Given the description of an element on the screen output the (x, y) to click on. 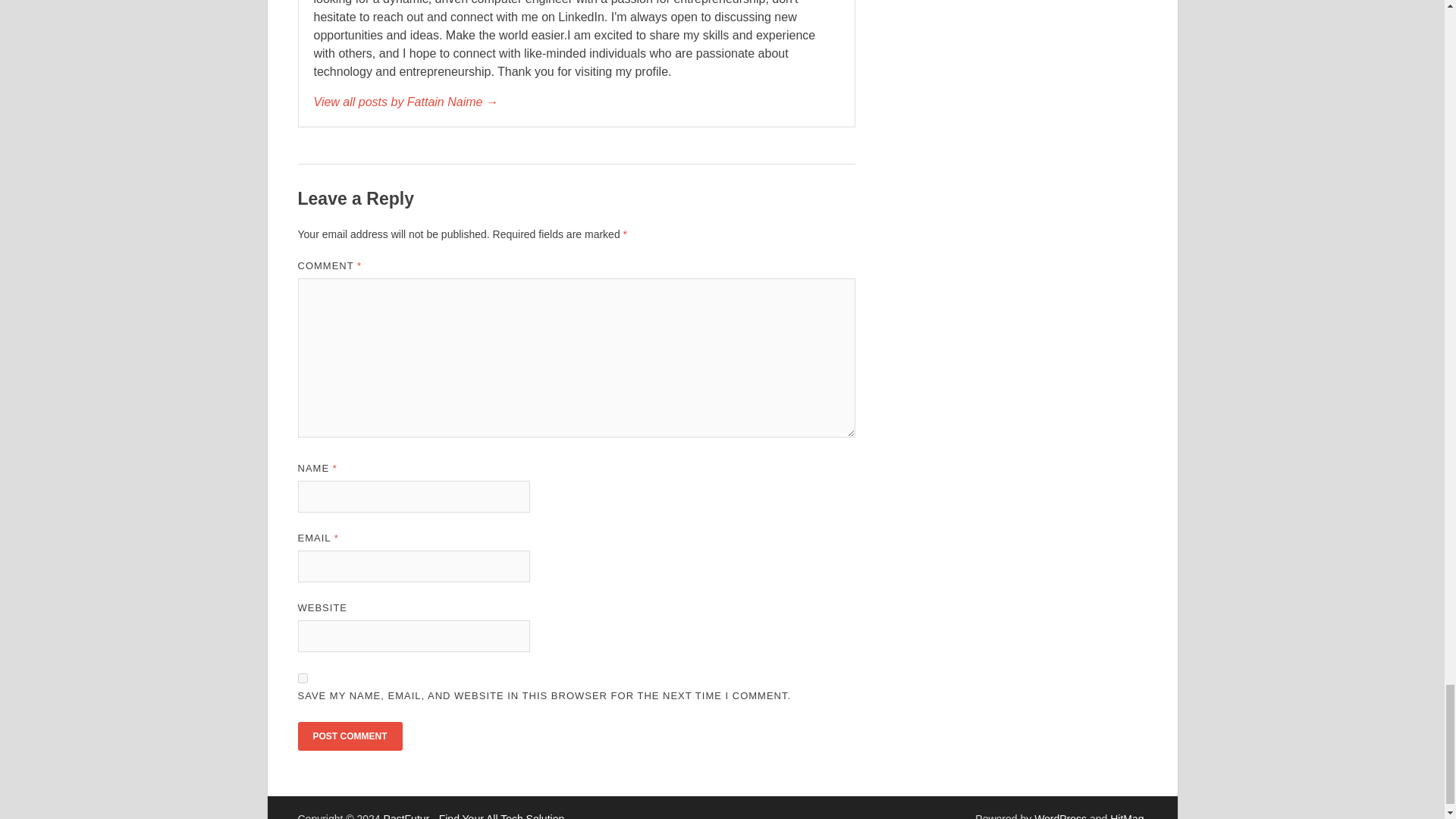
Fattain Naime (577, 102)
Post Comment (349, 736)
Post Comment (349, 736)
yes (302, 678)
